Given the description of an element on the screen output the (x, y) to click on. 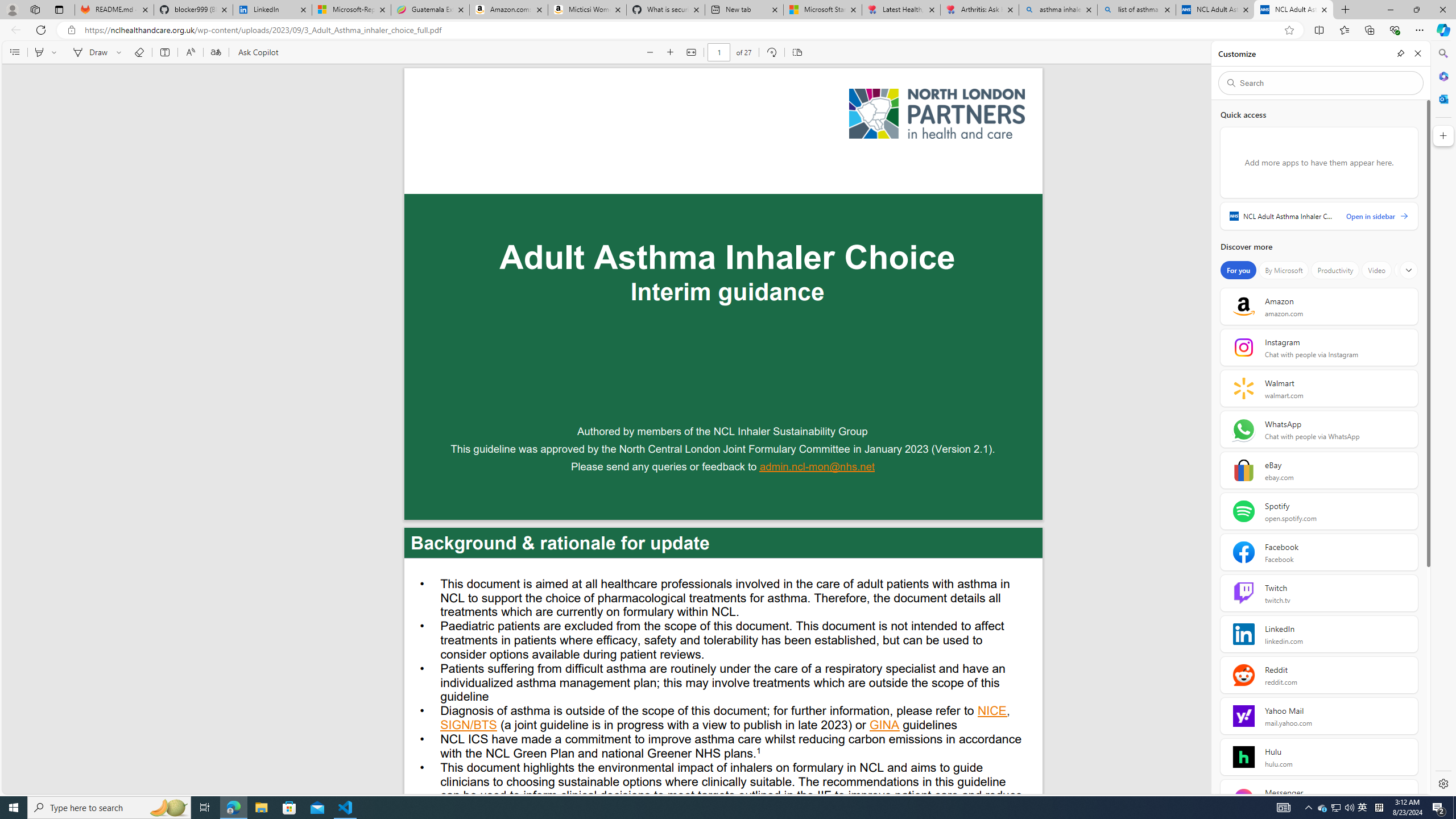
Save (Ctrl+S) (1385, 52)
Show more (1408, 270)
Page number (718, 52)
For you (1238, 270)
Find (Ctrl + F) (1340, 52)
Highlight (39, 52)
Draw (88, 52)
Erase (138, 52)
